Given the description of an element on the screen output the (x, y) to click on. 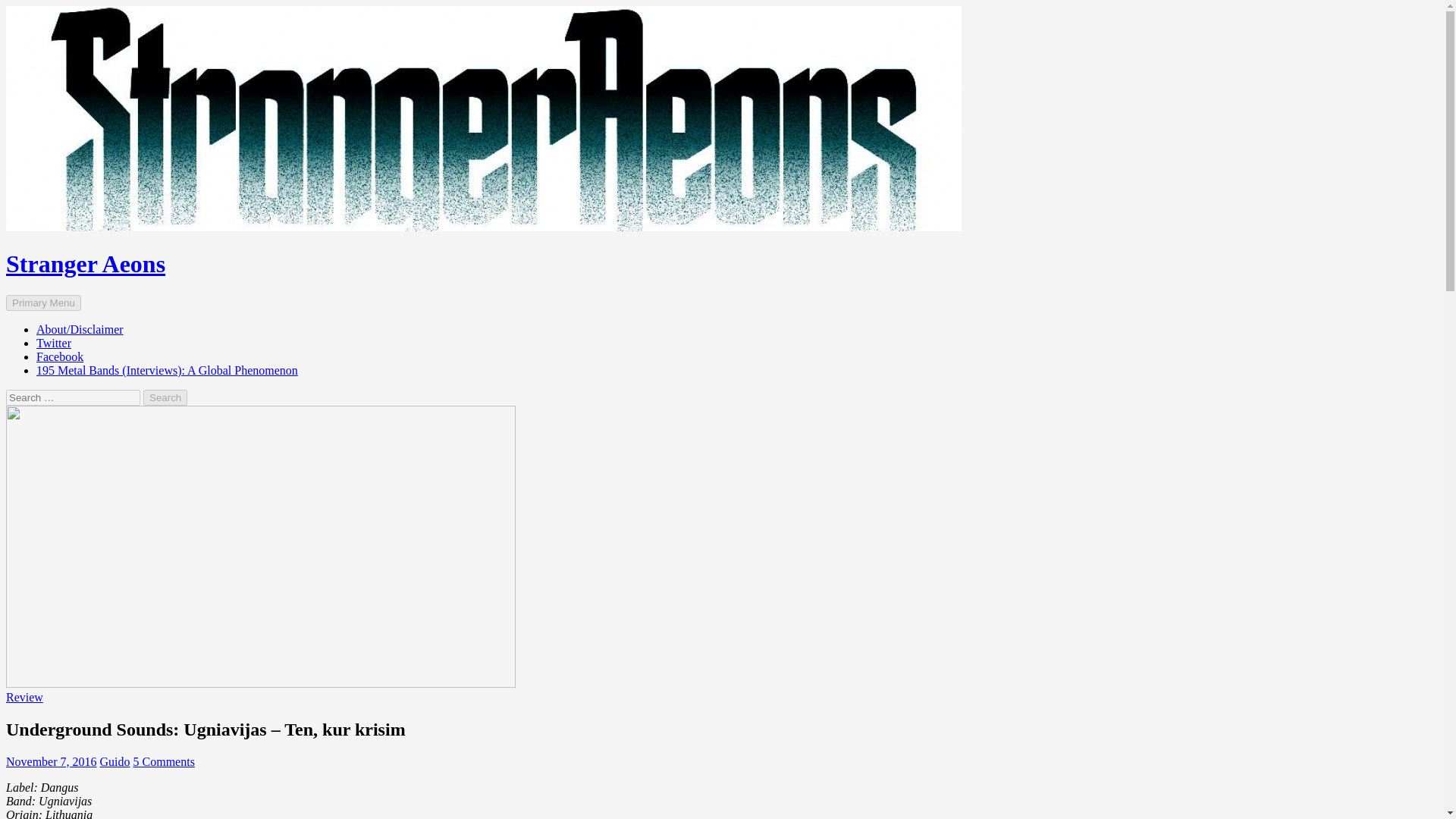
Stranger Aeons (85, 263)
Guido (115, 761)
Search (164, 397)
Search (164, 397)
Primary Menu (43, 302)
Search (164, 397)
Twitter (53, 342)
November 7, 2016 (51, 761)
Review (24, 697)
5 Comments (164, 761)
Facebook (59, 356)
